Given the description of an element on the screen output the (x, y) to click on. 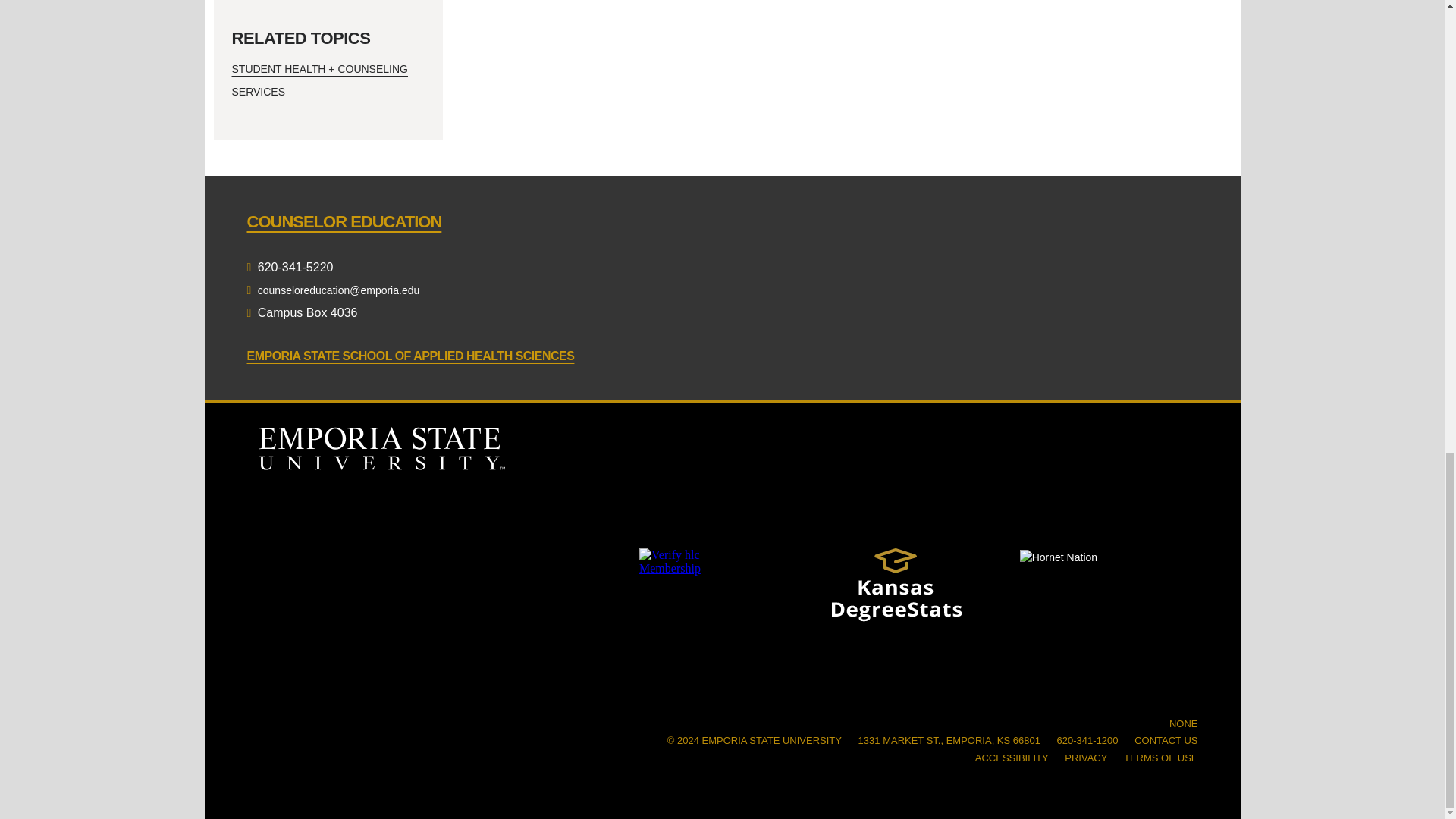
CONTACT US (1165, 740)
HLC Accreditation Logo (695, 610)
COUNSELOR EDUCATION (344, 221)
EMPORIA STATE SCHOOL OF APPLIED HEALTH SCIENCES (411, 355)
